Given the description of an element on the screen output the (x, y) to click on. 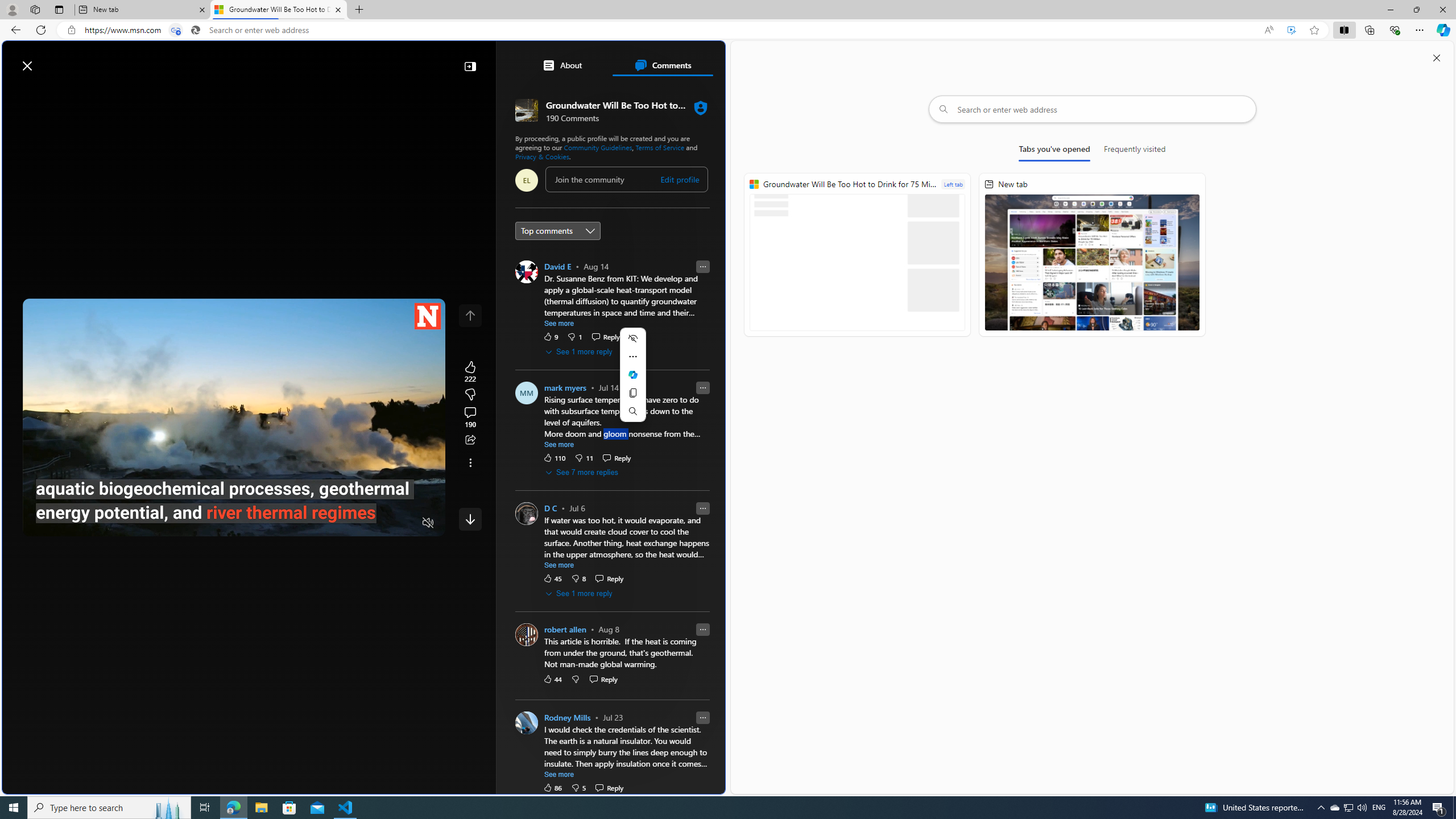
About (561, 64)
Class: control (469, 518)
Search icon (195, 29)
Search or enter web address (1092, 108)
Seek Forward (85, 523)
